Given the description of an element on the screen output the (x, y) to click on. 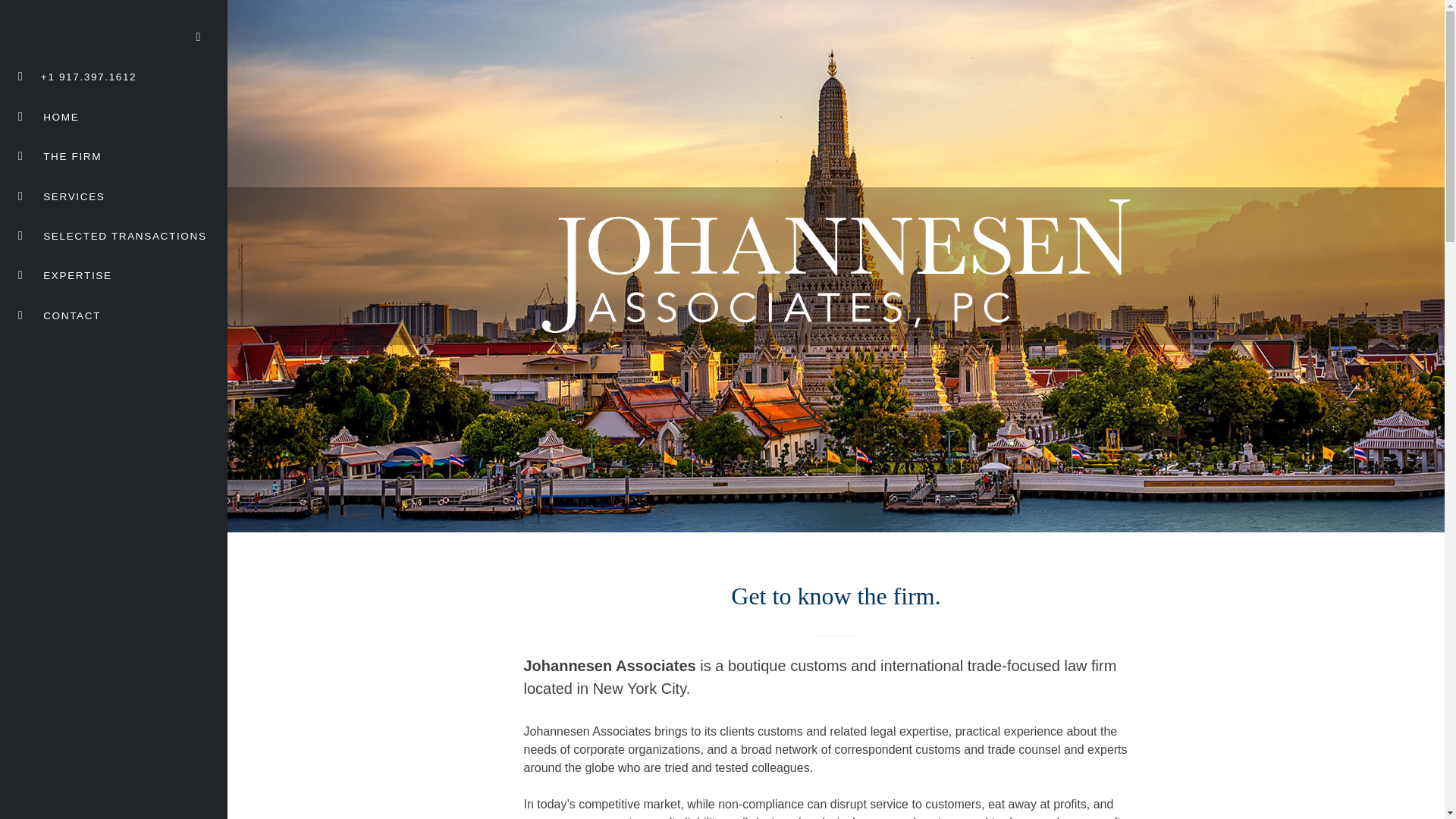
CONTACT (62, 315)
SELECTED TRANSACTIONS (115, 235)
SERVICES (64, 196)
THE FIRM (62, 156)
EXPERTISE (68, 275)
HOME (51, 116)
